Given the description of an element on the screen output the (x, y) to click on. 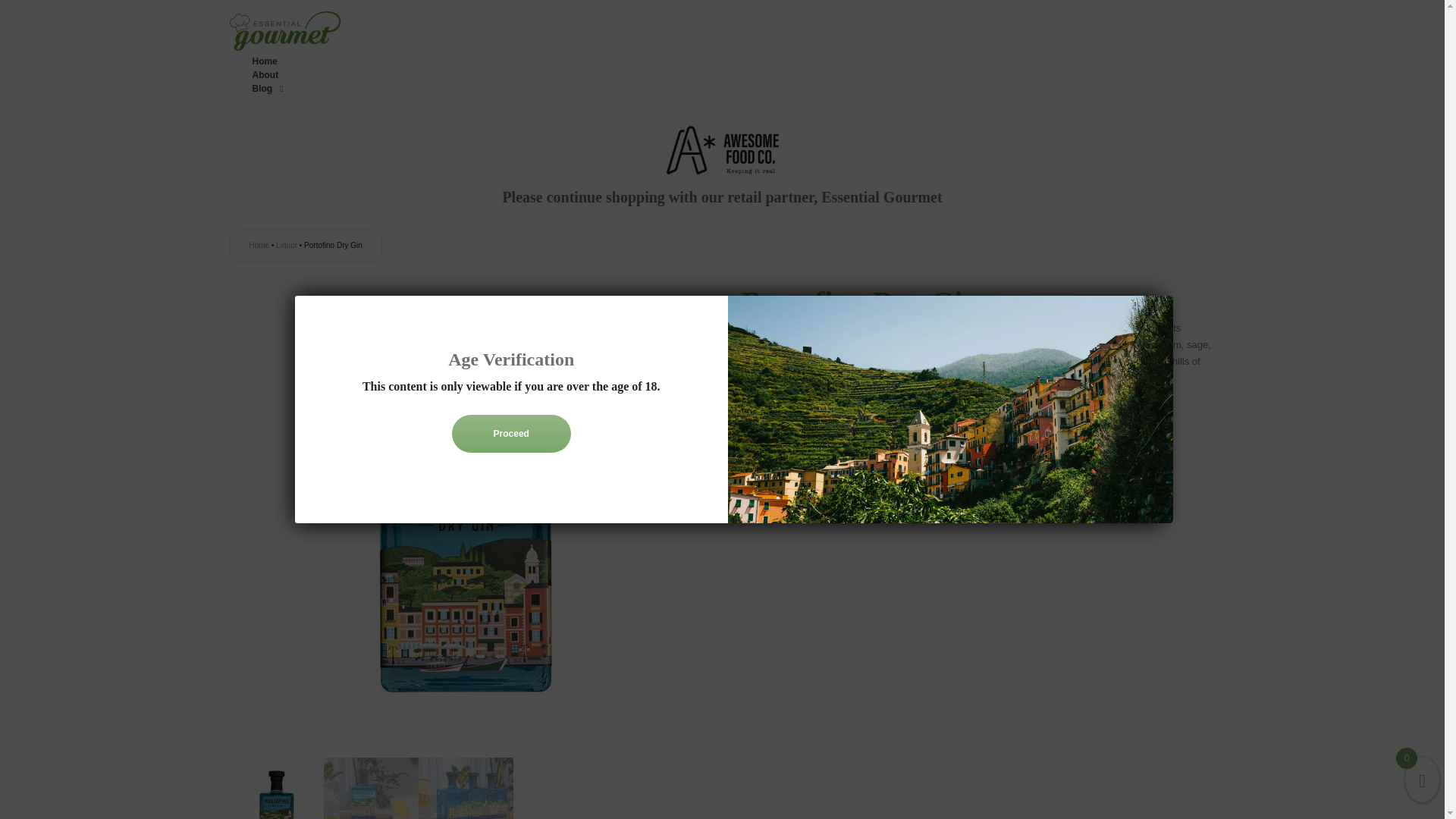
Liquor (791, 394)
Home (263, 60)
Home (258, 244)
About (264, 74)
Liquor (286, 244)
Italian Gin (809, 407)
Italian (775, 407)
Blog (266, 88)
